Given the description of an element on the screen output the (x, y) to click on. 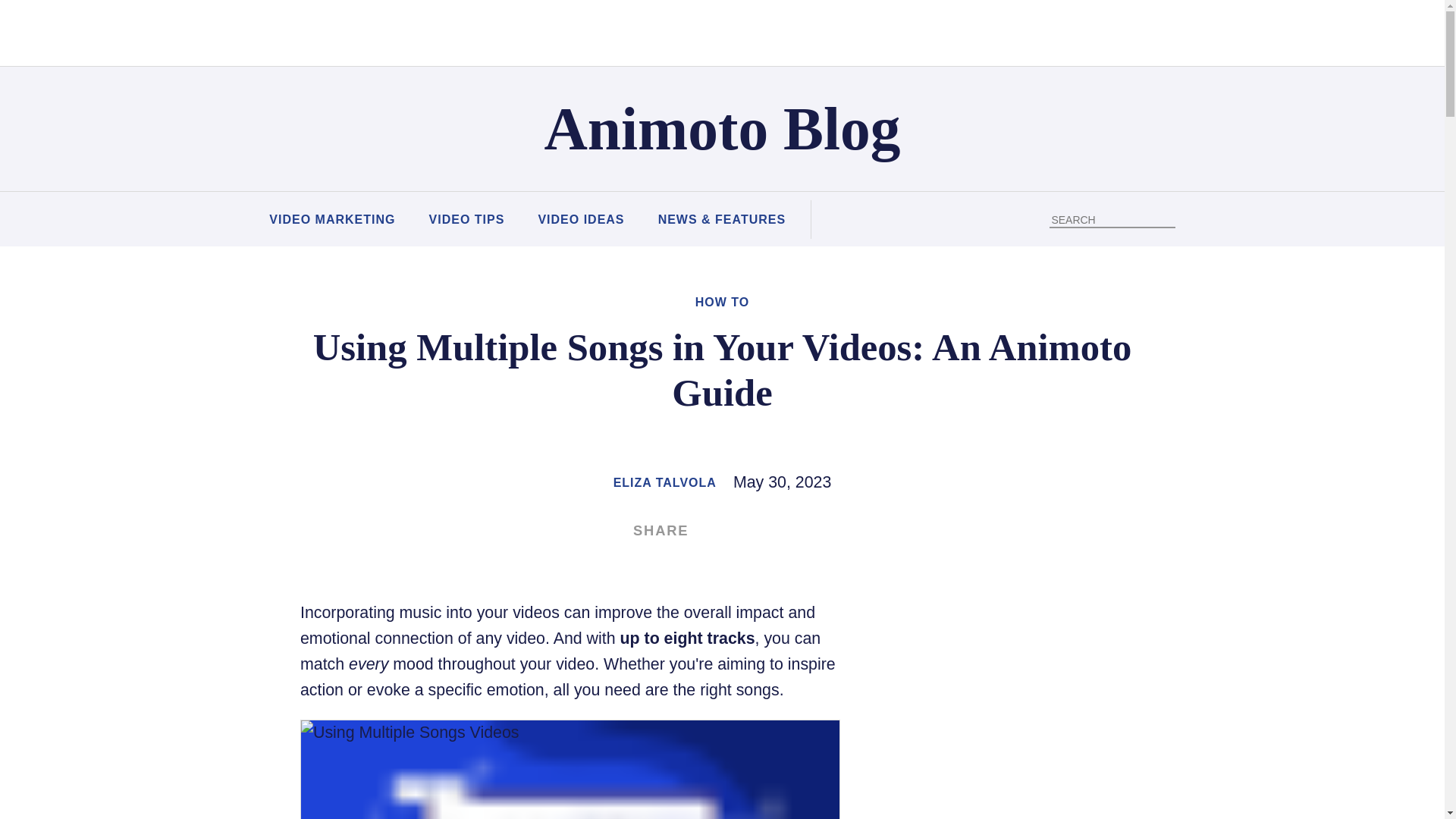
VIDEO MARKETING (331, 219)
HOW TO (722, 302)
Animoto Blog (722, 129)
VIDEO IDEAS (580, 219)
ELIZA TALVOLA (664, 483)
VIDEO TIPS (467, 219)
